Given the description of an element on the screen output the (x, y) to click on. 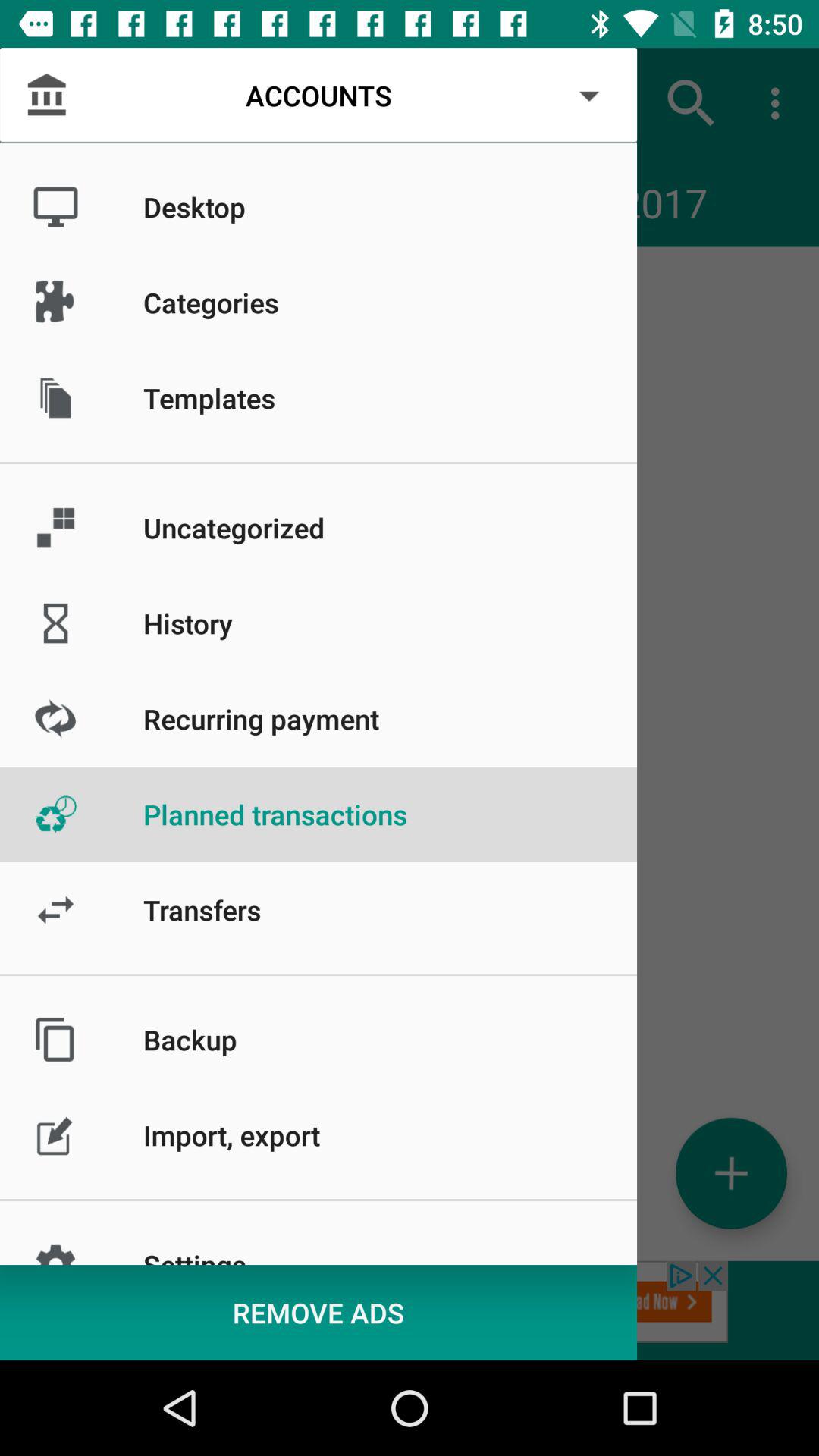
open remove advertisements payment screen (409, 1310)
